Given the description of an element on the screen output the (x, y) to click on. 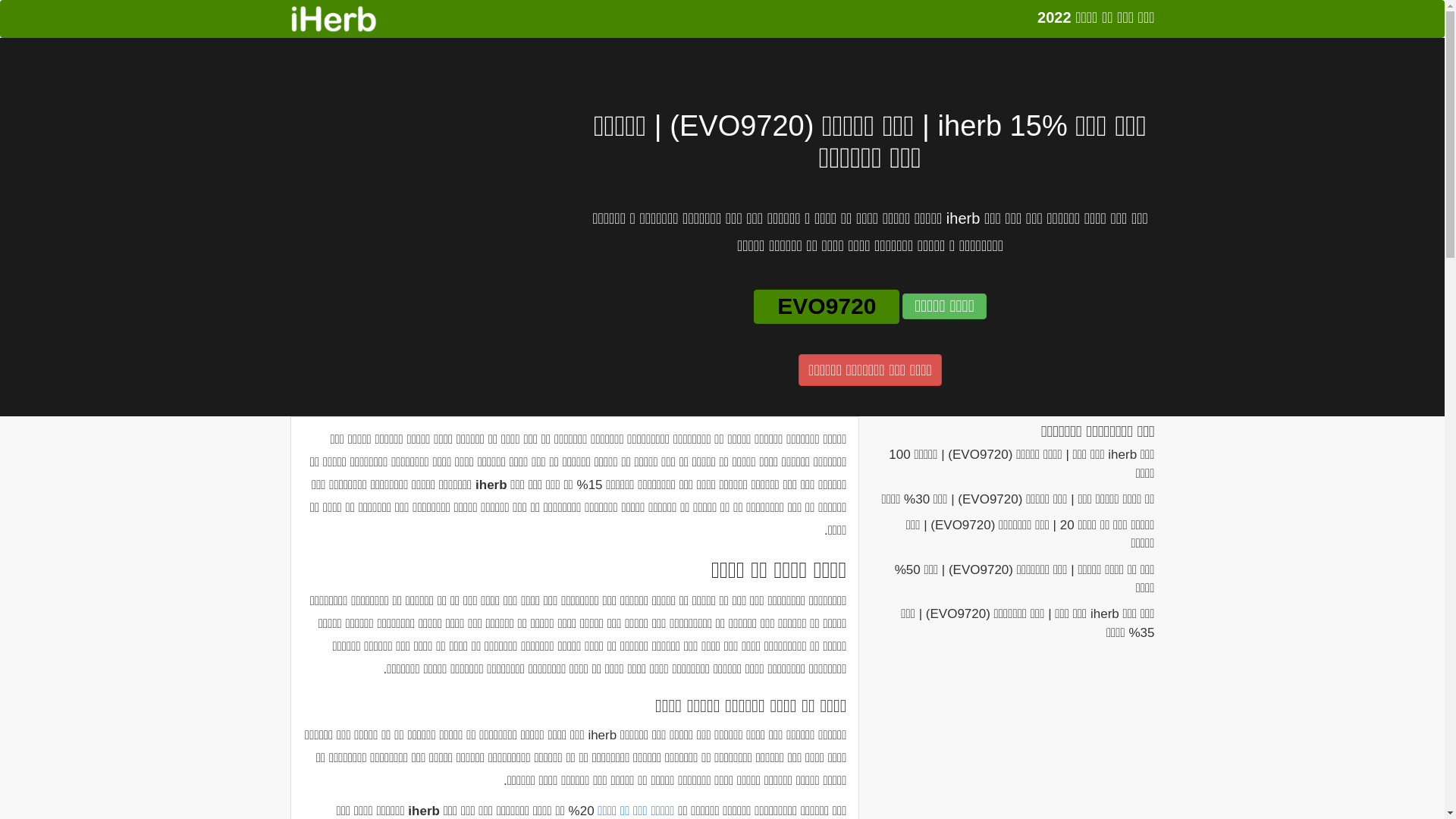
EVO9720 Element type: text (826, 306)
